Given the description of an element on the screen output the (x, y) to click on. 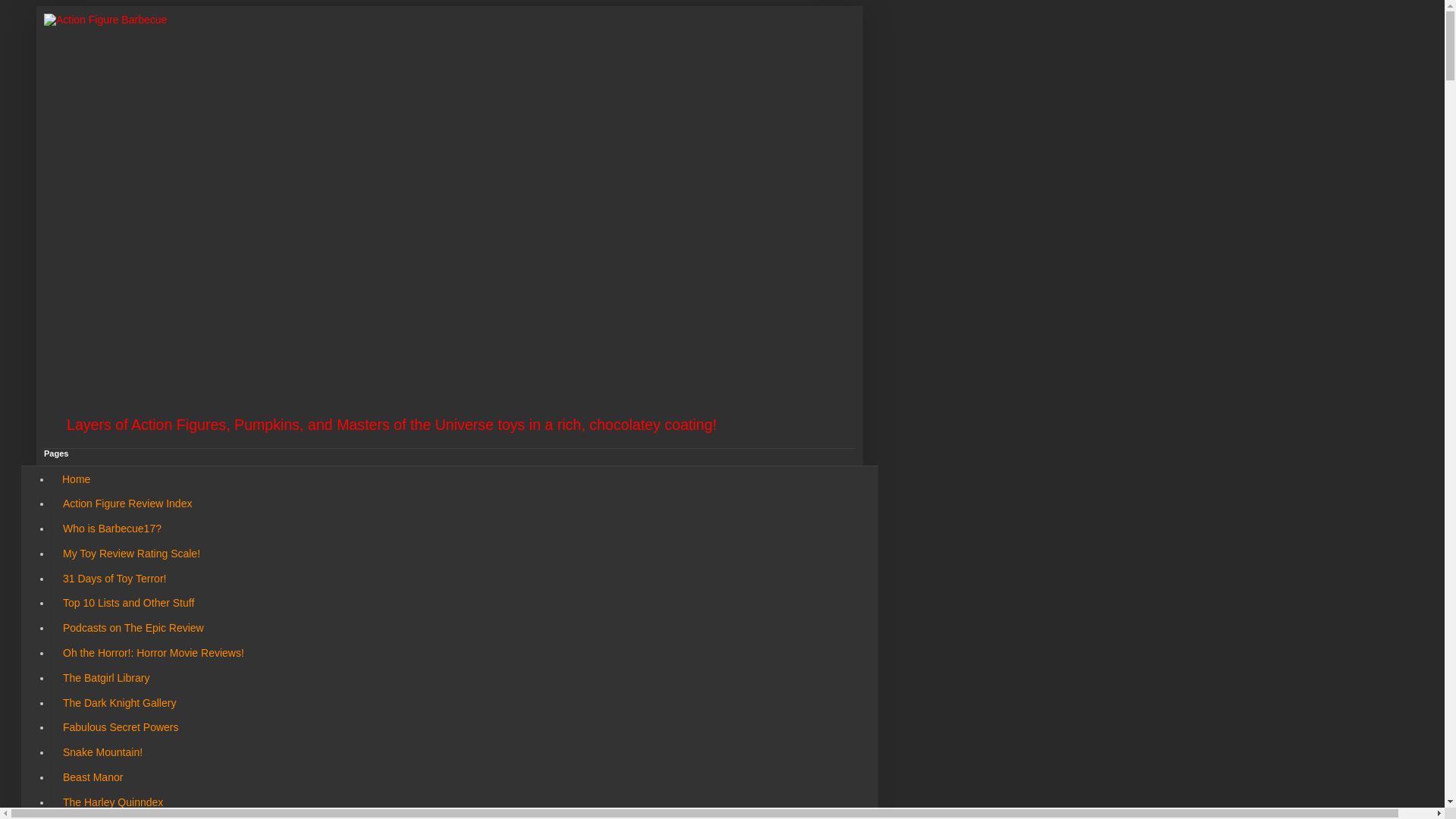
Snake Mountain! (101, 752)
The Harley Quinndex (111, 801)
Oh the Horror!: Horror Movie Reviews! (152, 652)
My Toy Review Rating Scale! (130, 553)
Fabulous Secret Powers (119, 727)
Podcasts on The Epic Review (132, 627)
Beast Manor (91, 777)
The Dark Knight Gallery (118, 702)
31 Days of Toy Terror! (113, 577)
Action Figure Review Index (126, 503)
The Batgirl Library (105, 677)
Home (75, 478)
The Joker's Funhouse (113, 816)
Top 10 Lists and Other Stuff (127, 602)
Who is Barbecue17? (110, 528)
